Given the description of an element on the screen output the (x, y) to click on. 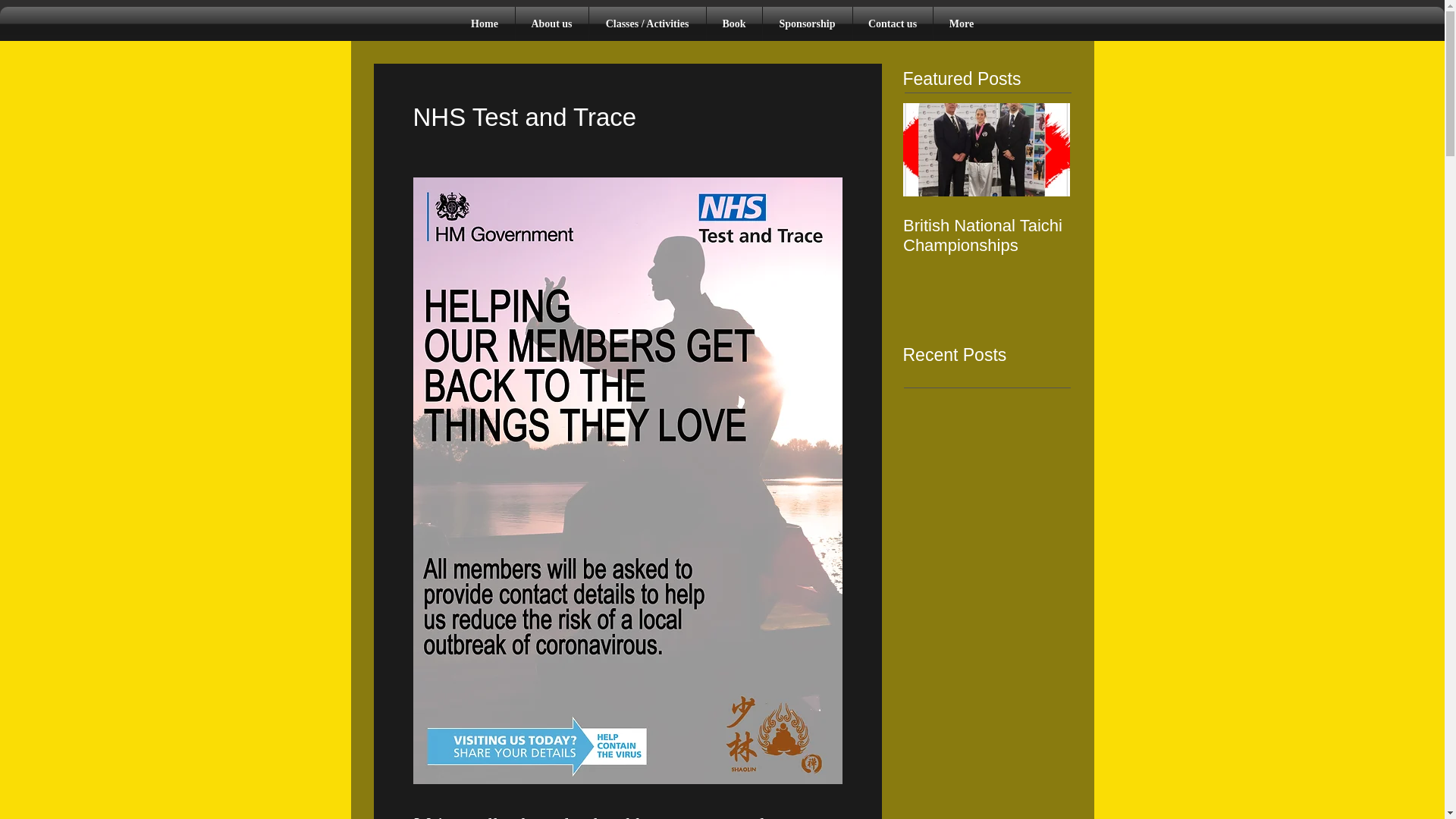
Book (733, 23)
TEAM GB - Traditional Wushu (1319, 235)
British National Taichi Championships (985, 235)
About us (551, 23)
Contact us (891, 23)
Home (484, 23)
Sponsorship (806, 23)
